Given the description of an element on the screen output the (x, y) to click on. 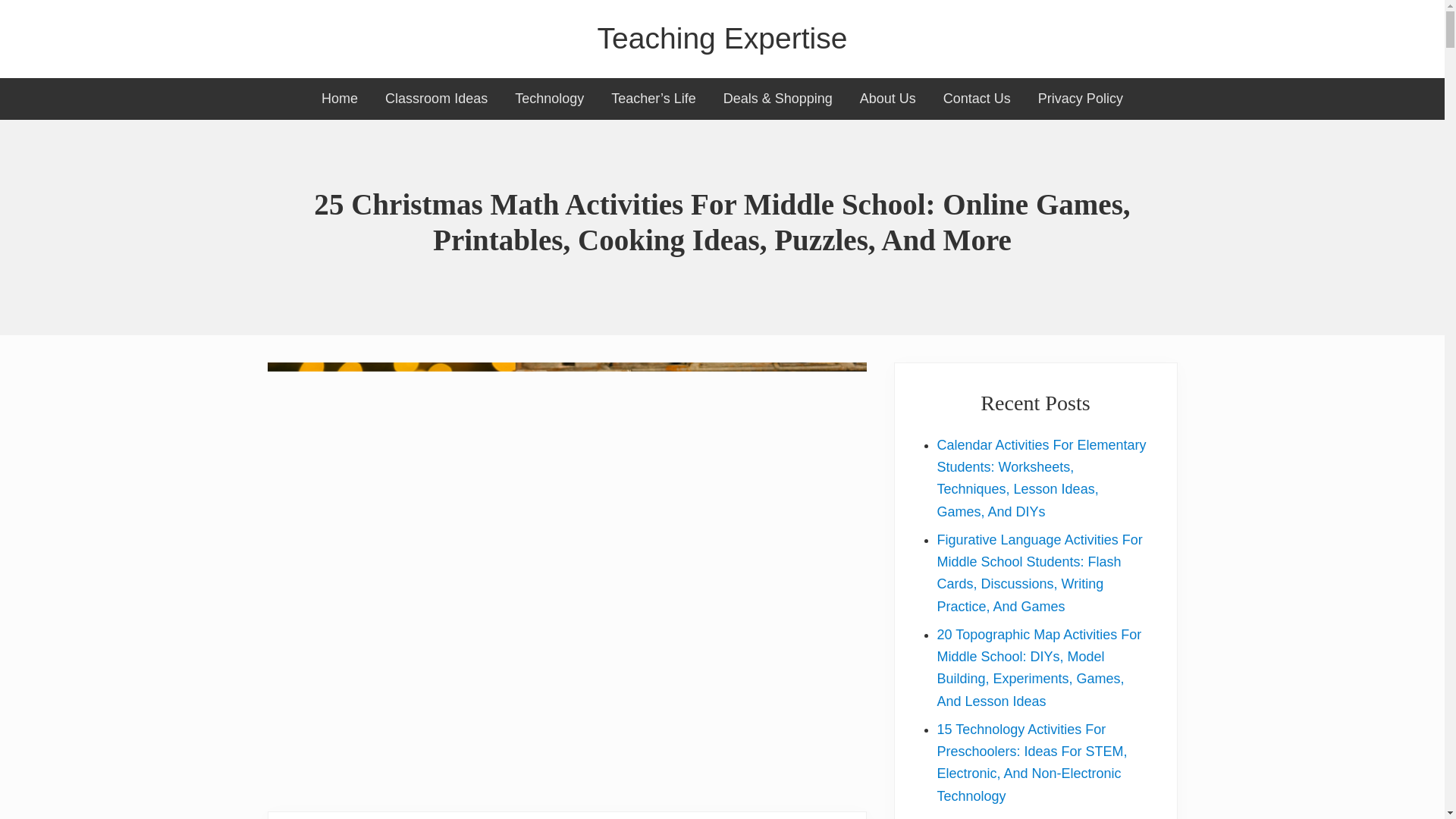
Contact Us (977, 98)
Home (339, 98)
About Us (887, 98)
Technology (548, 98)
Classroom Ideas (435, 98)
Privacy Policy (1081, 98)
Teaching Expertise (721, 38)
